Given the description of an element on the screen output the (x, y) to click on. 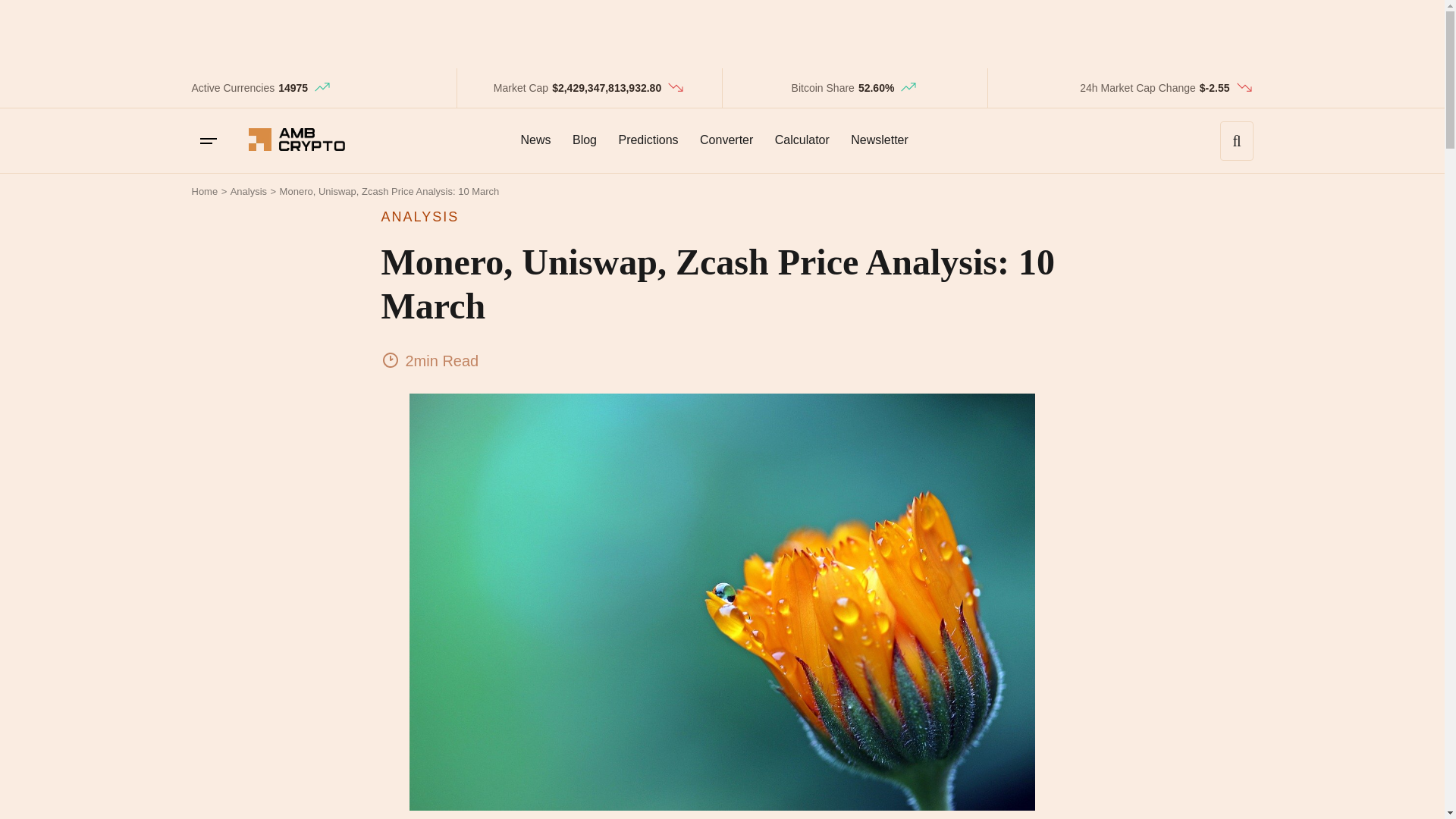
Home (203, 191)
Blog (584, 139)
Newsletter (879, 139)
Analysis (248, 191)
Calculator (801, 139)
Predictions (647, 139)
ANALYSIS (721, 216)
Converter (725, 139)
Analysis (248, 191)
News (535, 139)
